Given the description of an element on the screen output the (x, y) to click on. 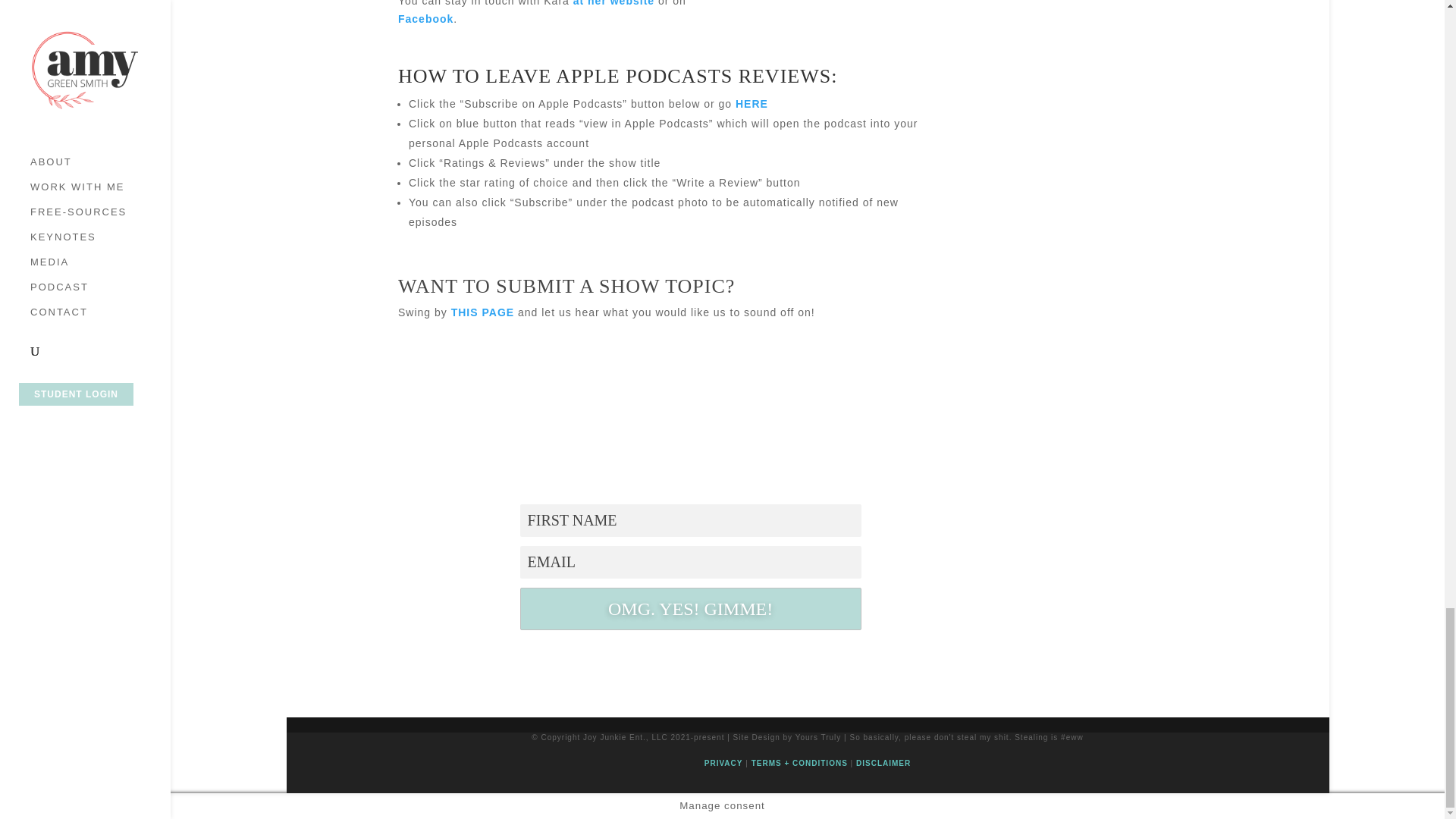
HERE (751, 103)
OMG. YES! GIMME! (690, 608)
at her website (613, 3)
THIS PAGE (482, 312)
OMG. YES! GIMME! (690, 608)
Facebook (424, 19)
